Given the description of an element on the screen output the (x, y) to click on. 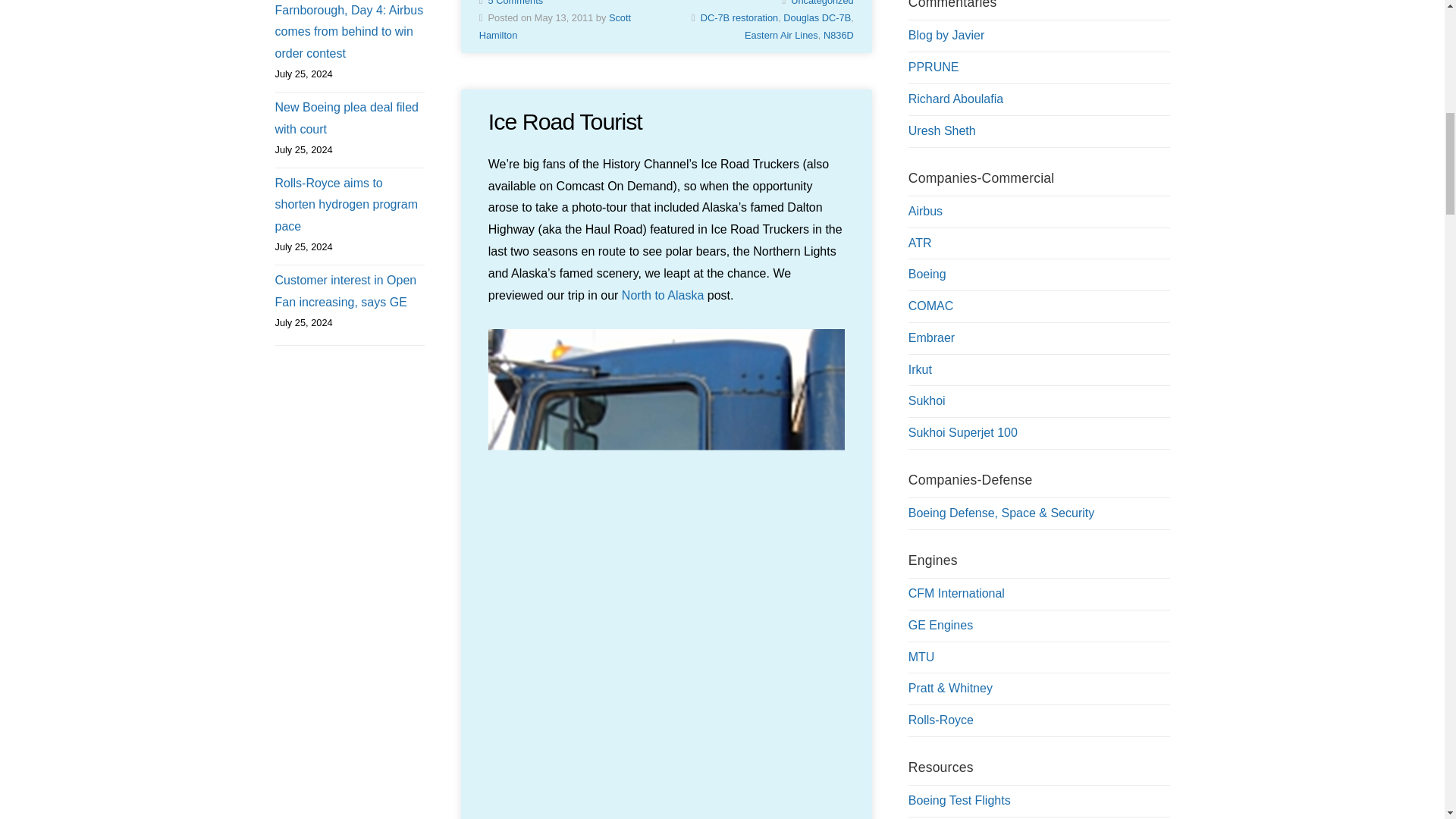
Eastern Air Lines (781, 34)
Uncategorized (821, 2)
Ice Road Tourist (564, 121)
Customer interest in Open Fan increasing, says GE (349, 291)
DC-7B restoration (738, 17)
5 Comments (515, 2)
N836D (838, 34)
Scott Hamilton (554, 26)
Ice Road Tourist (564, 121)
Posts by Scott Hamilton (554, 26)
Douglas DC-7B (816, 17)
North to Alaska (662, 295)
New Boeing plea deal filed with court (349, 118)
